Given the description of an element on the screen output the (x, y) to click on. 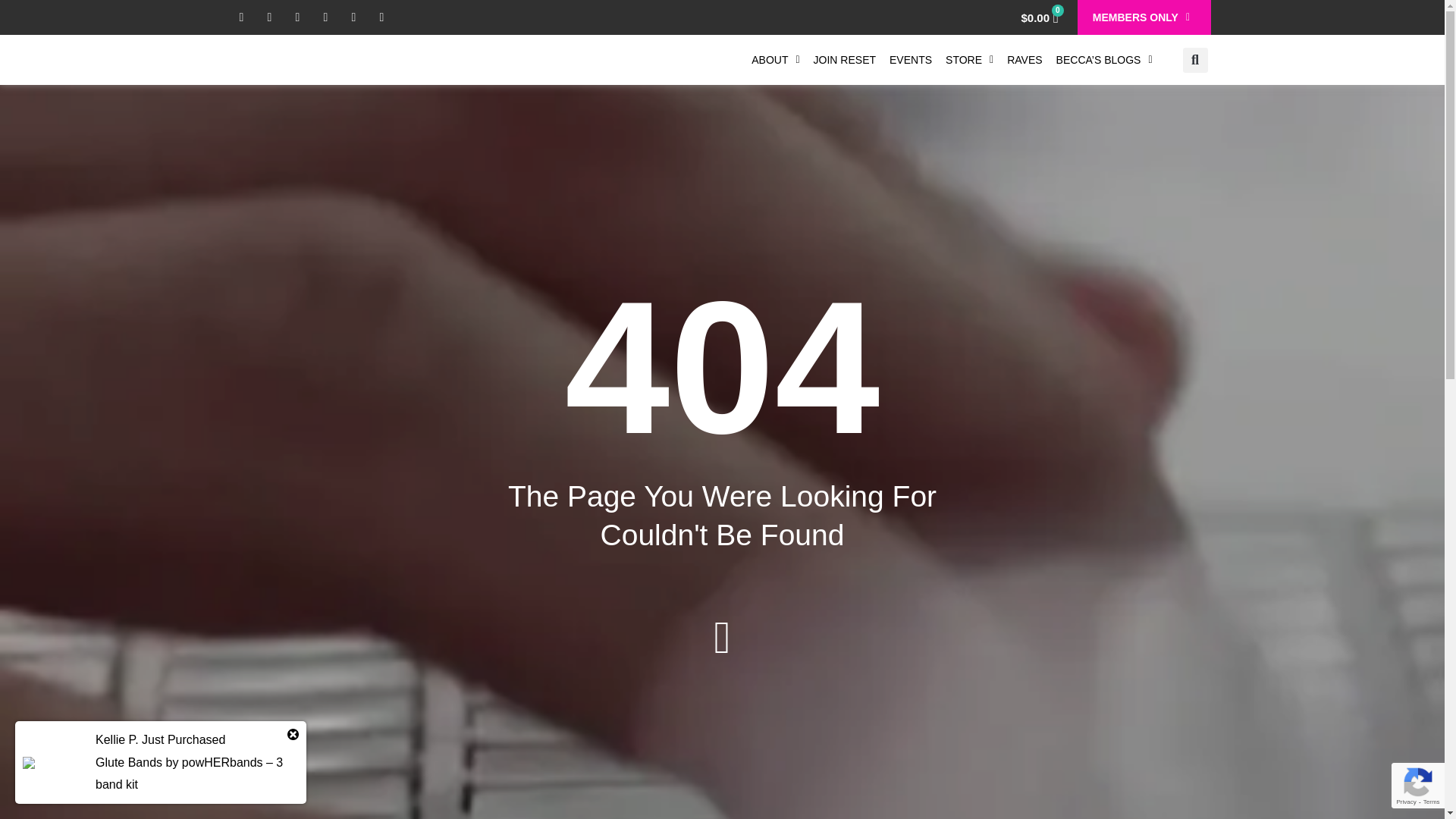
Instagram (325, 16)
Facebook-f (240, 16)
Pinterest (381, 16)
Envelope (352, 16)
Linkedin-in (296, 16)
Youtube (269, 16)
MEMBERS ONLY (1141, 17)
